Given the description of an element on the screen output the (x, y) to click on. 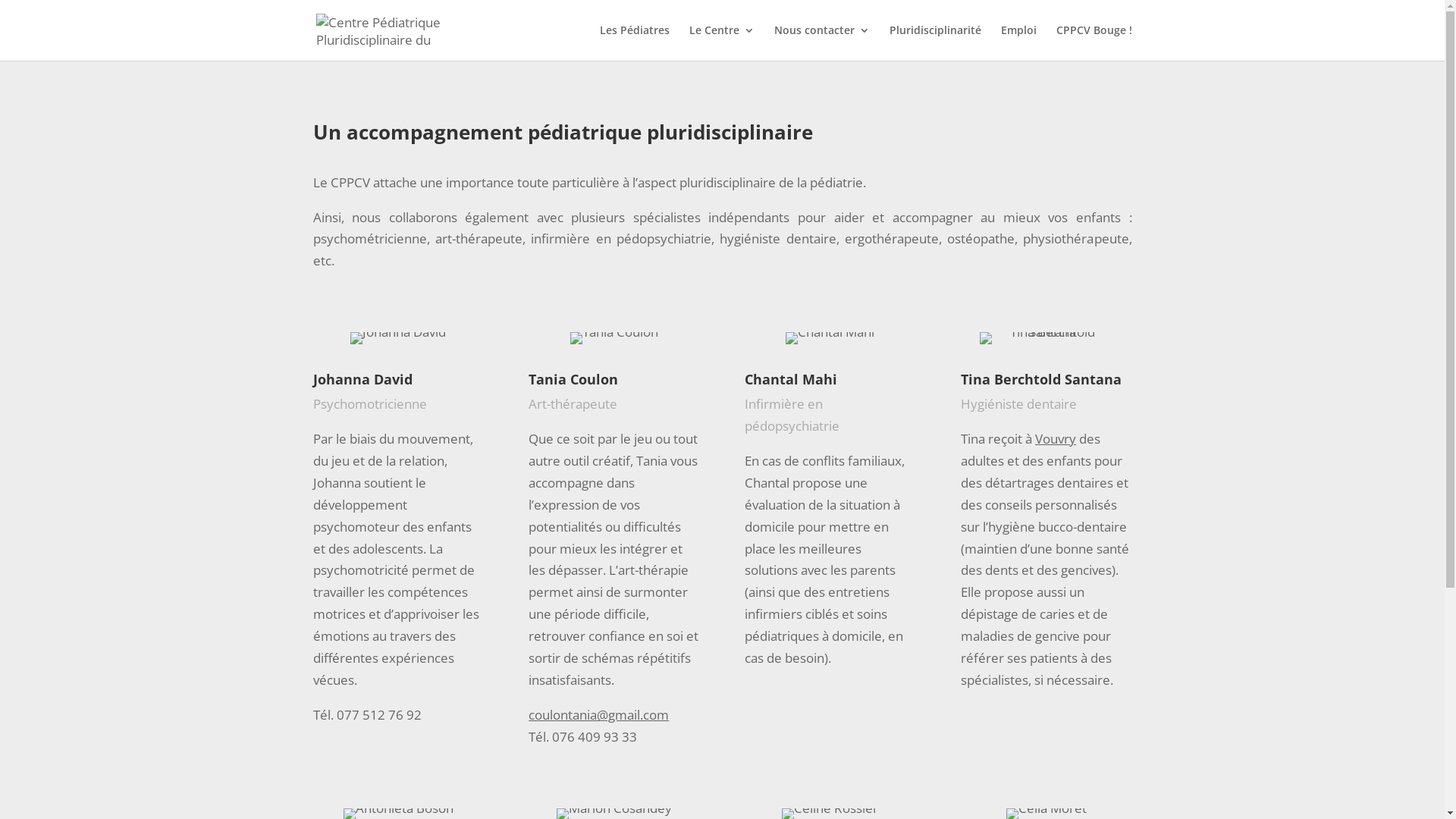
Nous contacter Element type: text (821, 42)
CPPCV Bouge ! Element type: text (1093, 42)
Le Centre Element type: text (720, 42)
Emploi Element type: text (1018, 42)
coulontania@gmail.com Element type: text (598, 714)
